Given the description of an element on the screen output the (x, y) to click on. 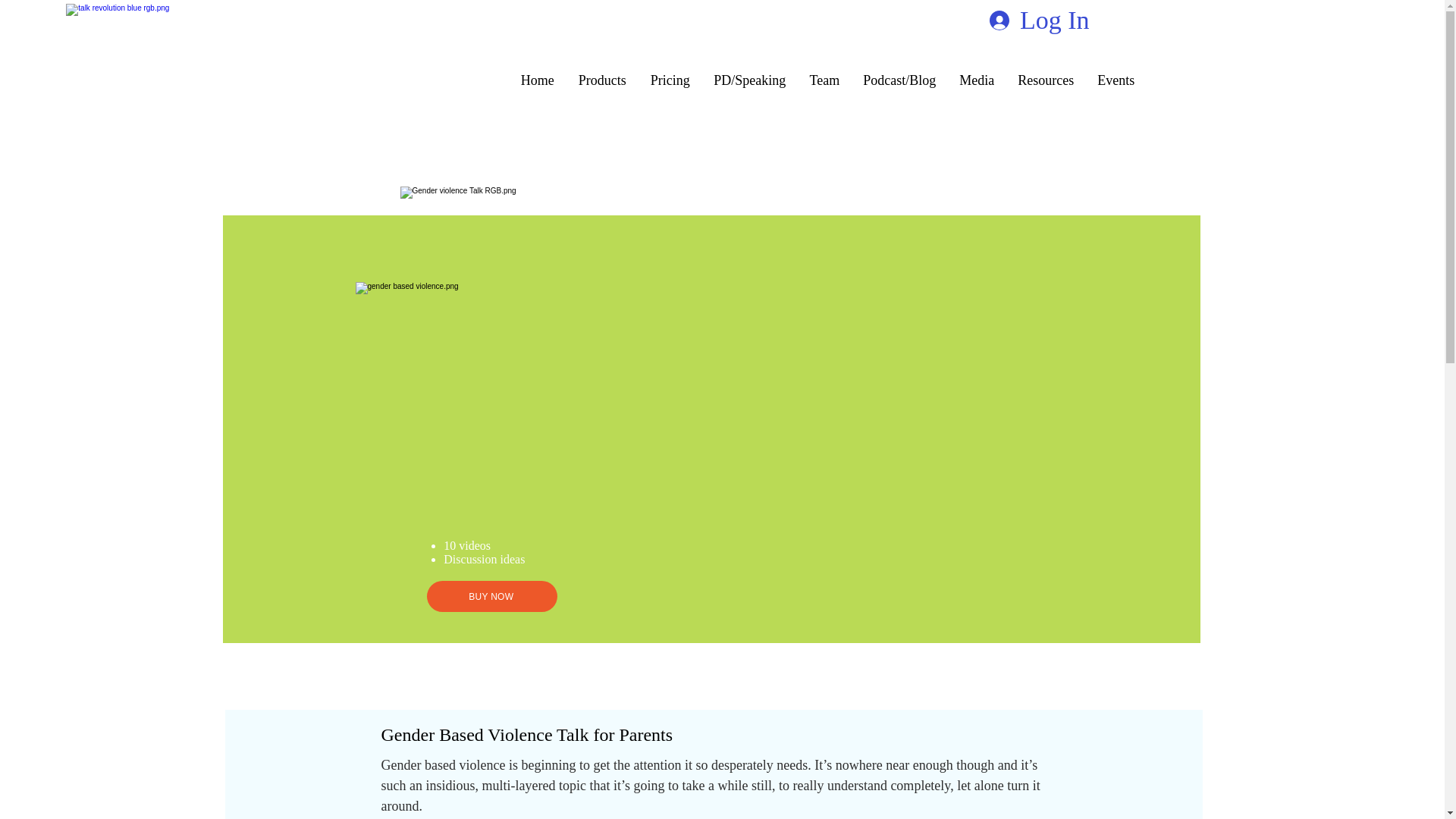
Events (1116, 80)
Home (537, 80)
BUY NOW (491, 595)
Media (976, 80)
Team (824, 80)
Log In (1039, 21)
Resources (1046, 80)
Products (602, 80)
Pricing (670, 80)
